Given the description of an element on the screen output the (x, y) to click on. 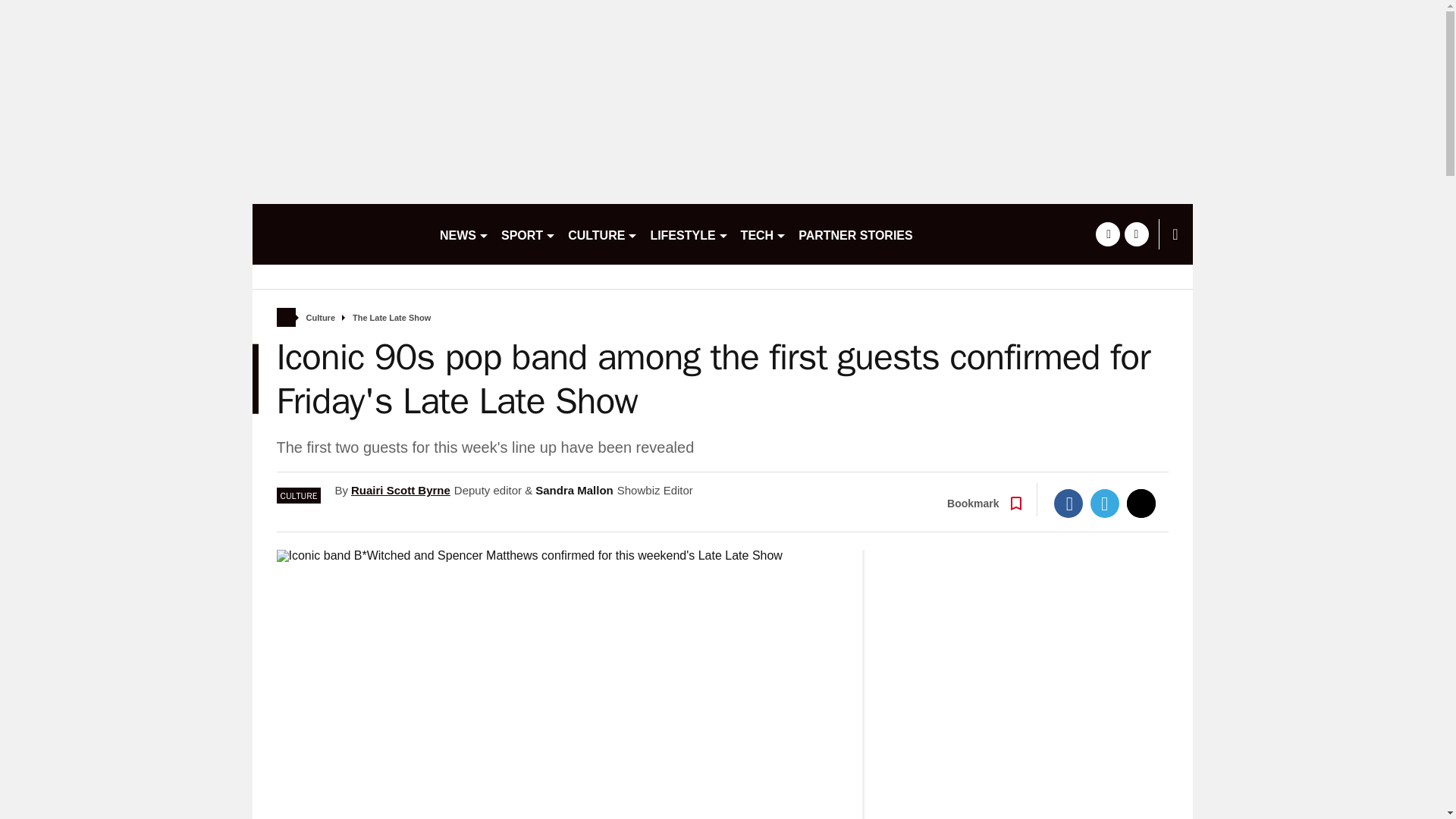
SPORT (528, 233)
buzz (338, 233)
LIFESTYLE (688, 233)
twitter (1136, 233)
NEWS (464, 233)
PARTNER STORIES (855, 233)
Facebook (1068, 502)
facebook (1106, 233)
CULTURE (602, 233)
Twitter (1104, 502)
TECH (764, 233)
